Given the description of an element on the screen output the (x, y) to click on. 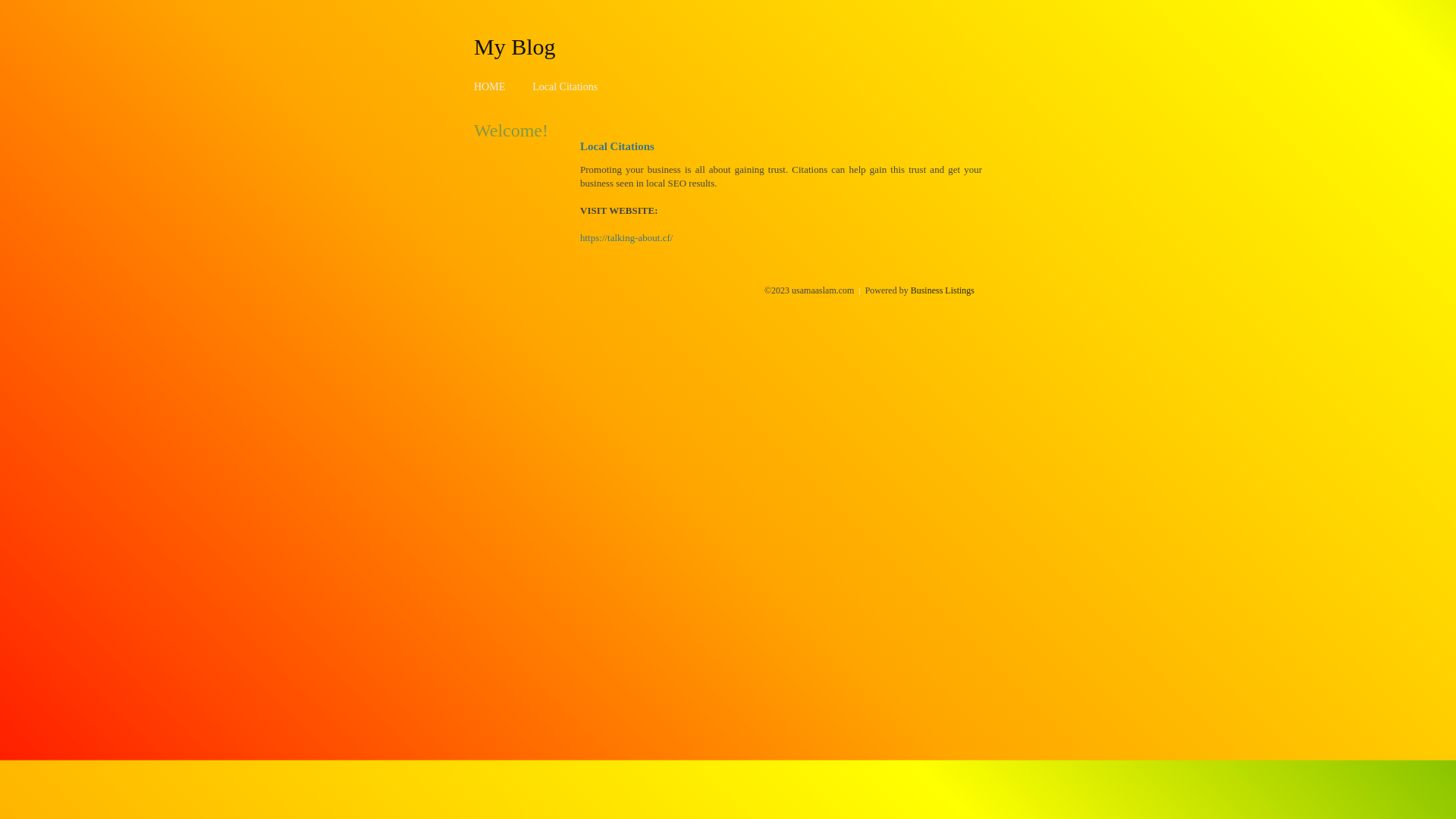
HOME Element type: text (489, 86)
https://talking-about.cf/ Element type: text (626, 237)
Business Listings Element type: text (942, 290)
My Blog Element type: text (514, 46)
Local Citations Element type: text (564, 86)
